Given the description of an element on the screen output the (x, y) to click on. 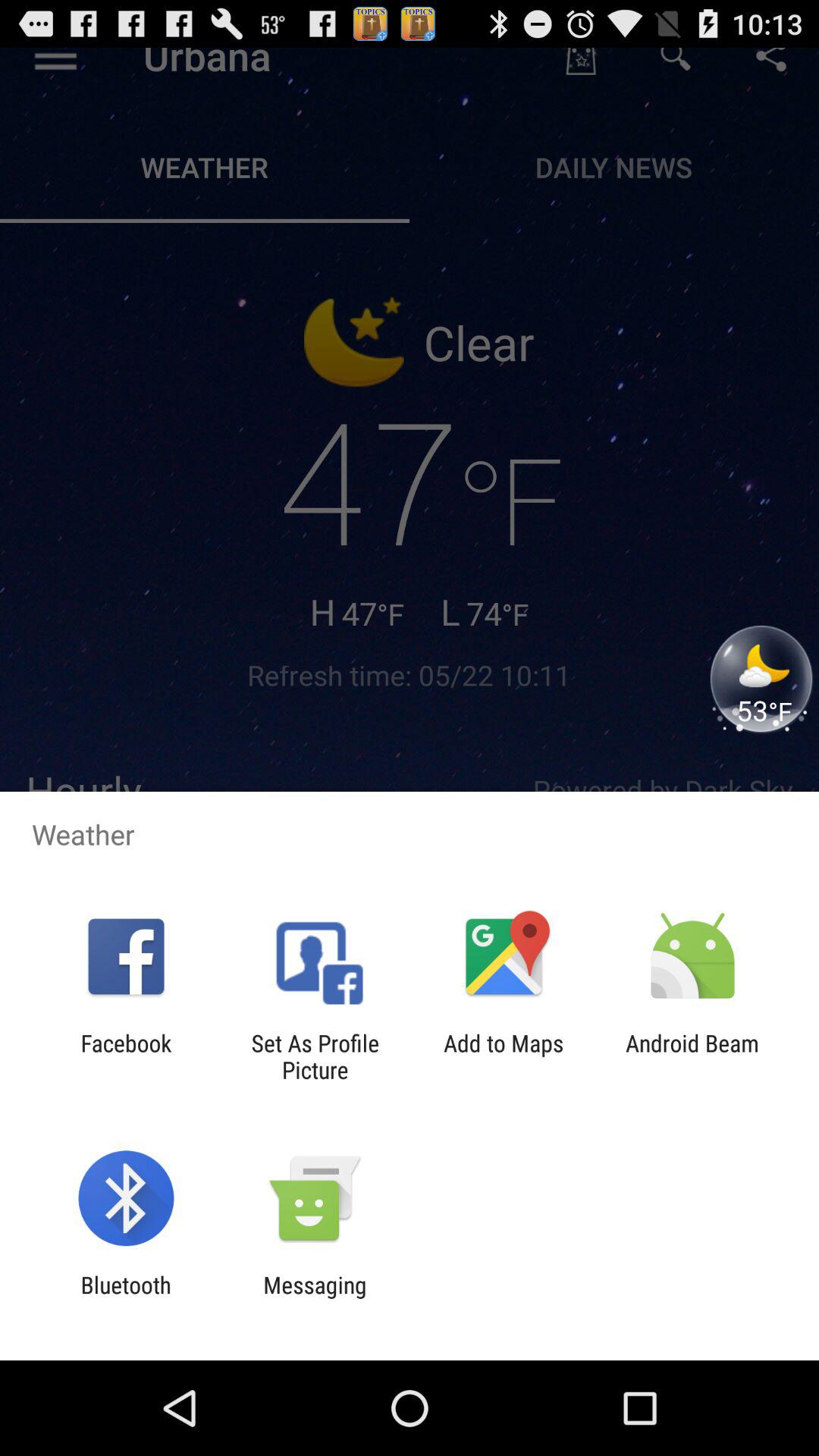
scroll to the android beam (692, 1056)
